Given the description of an element on the screen output the (x, y) to click on. 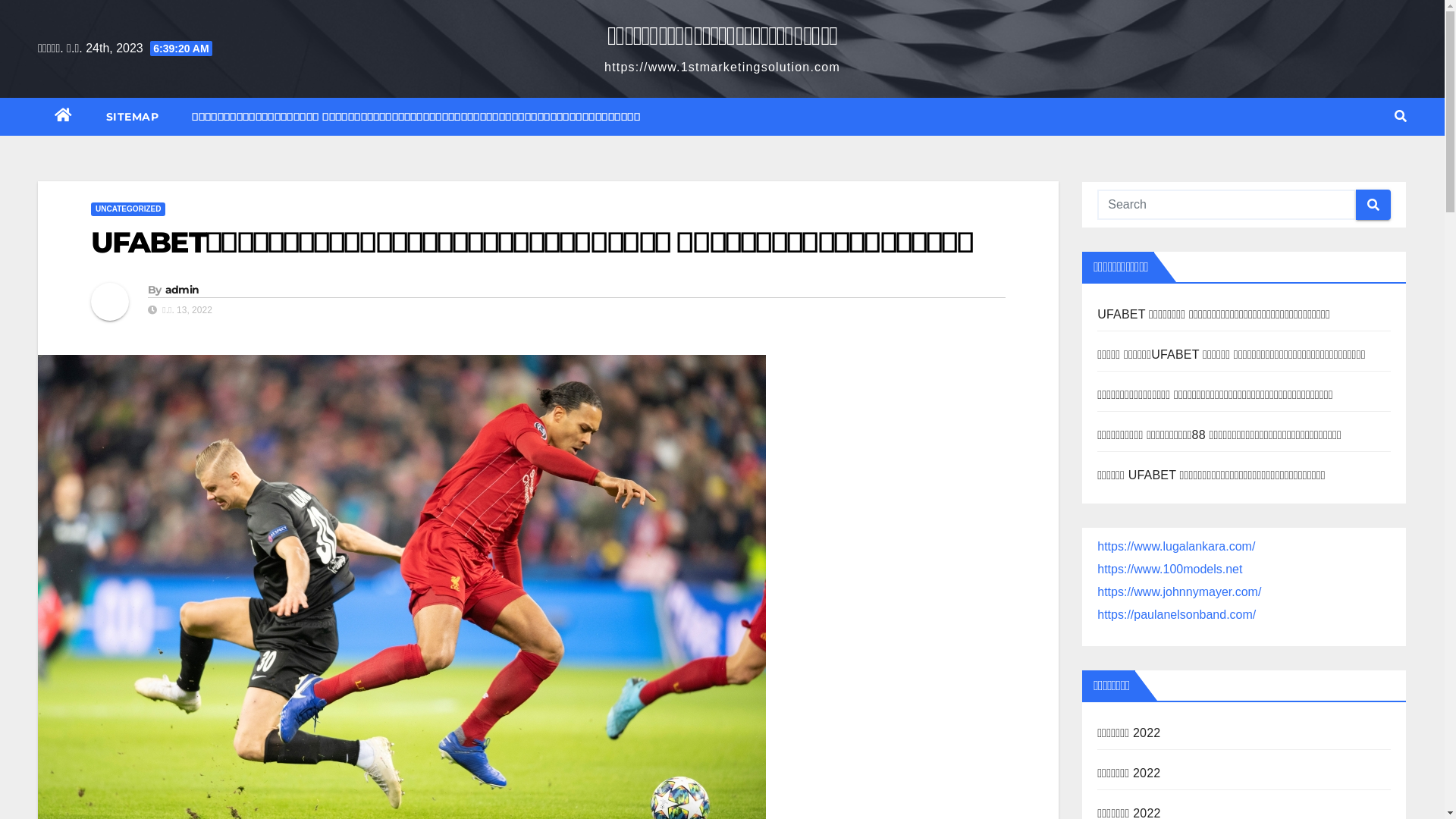
https://www.100models.net Element type: text (1169, 568)
https://www.lugalankara.com/ Element type: text (1176, 545)
admin Element type: text (182, 289)
https://www.johnnymayer.com/ Element type: text (1179, 591)
SITEMAP Element type: text (132, 116)
UNCATEGORIZED Element type: text (128, 209)
https://paulanelsonband.com/ Element type: text (1176, 614)
